Given the description of an element on the screen output the (x, y) to click on. 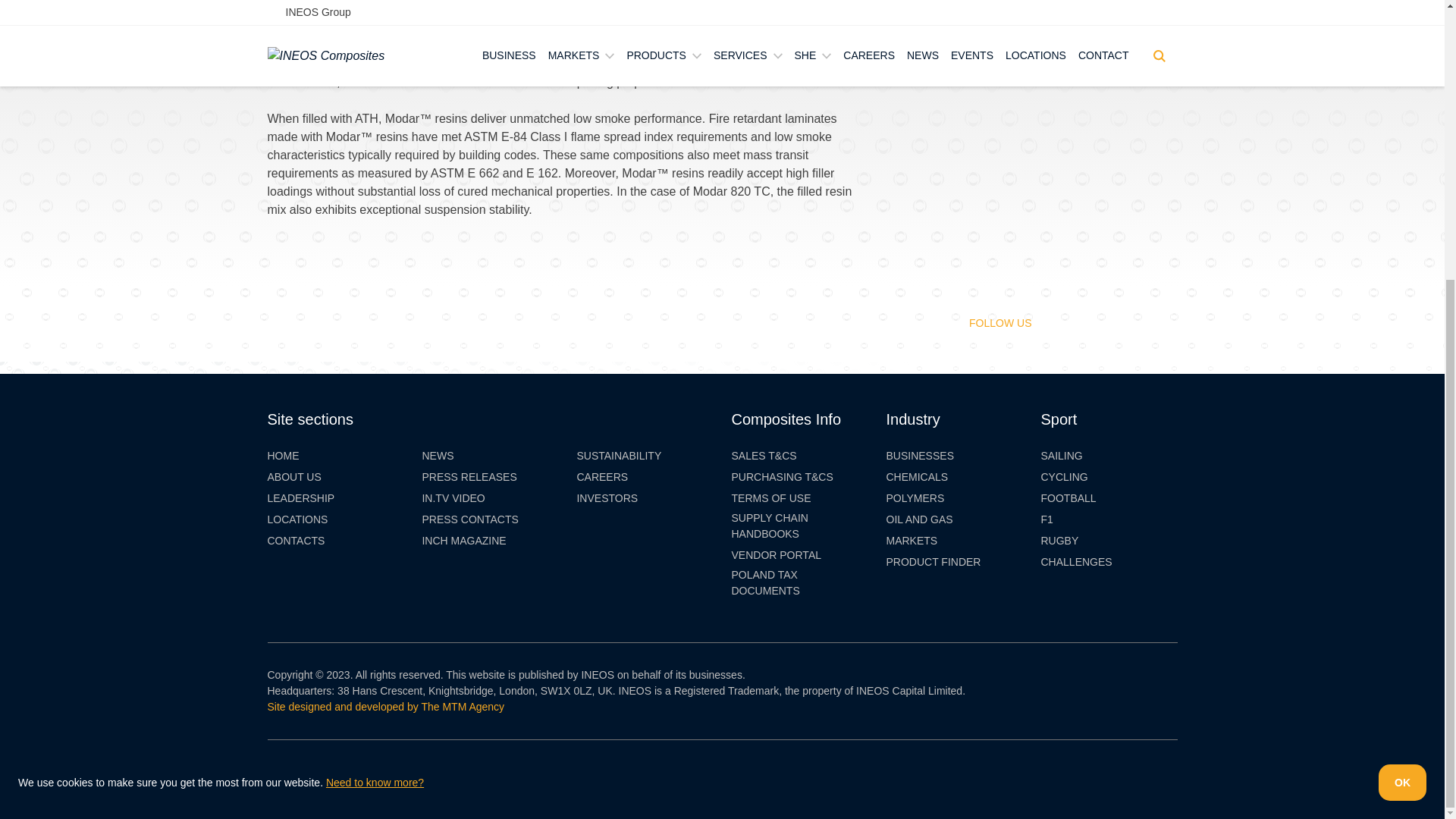
Site designed and developed by The MTM Agency (384, 706)
